Given the description of an element on the screen output the (x, y) to click on. 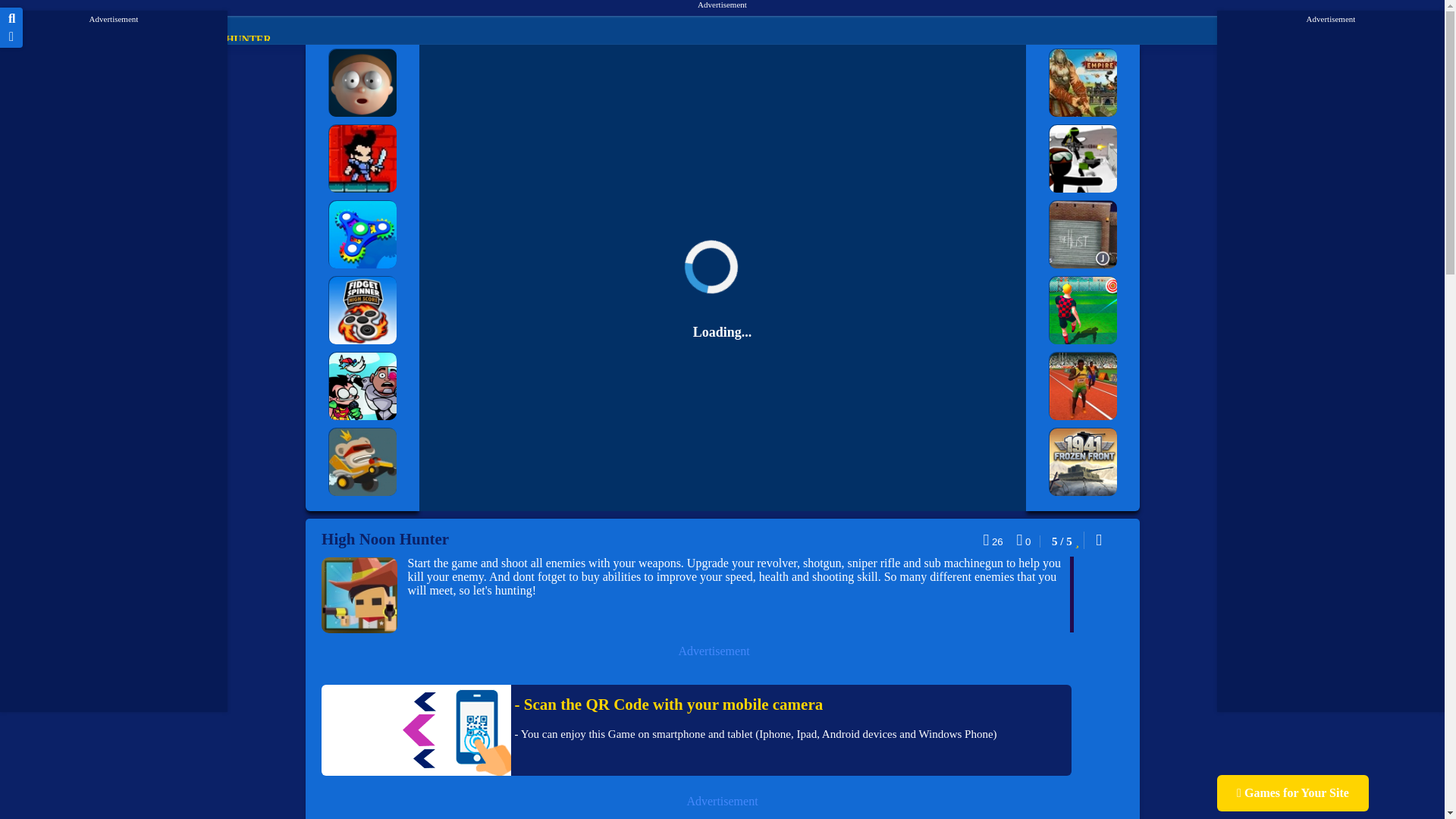
HOME (45, 39)
ACTION (112, 39)
